Given the description of an element on the screen output the (x, y) to click on. 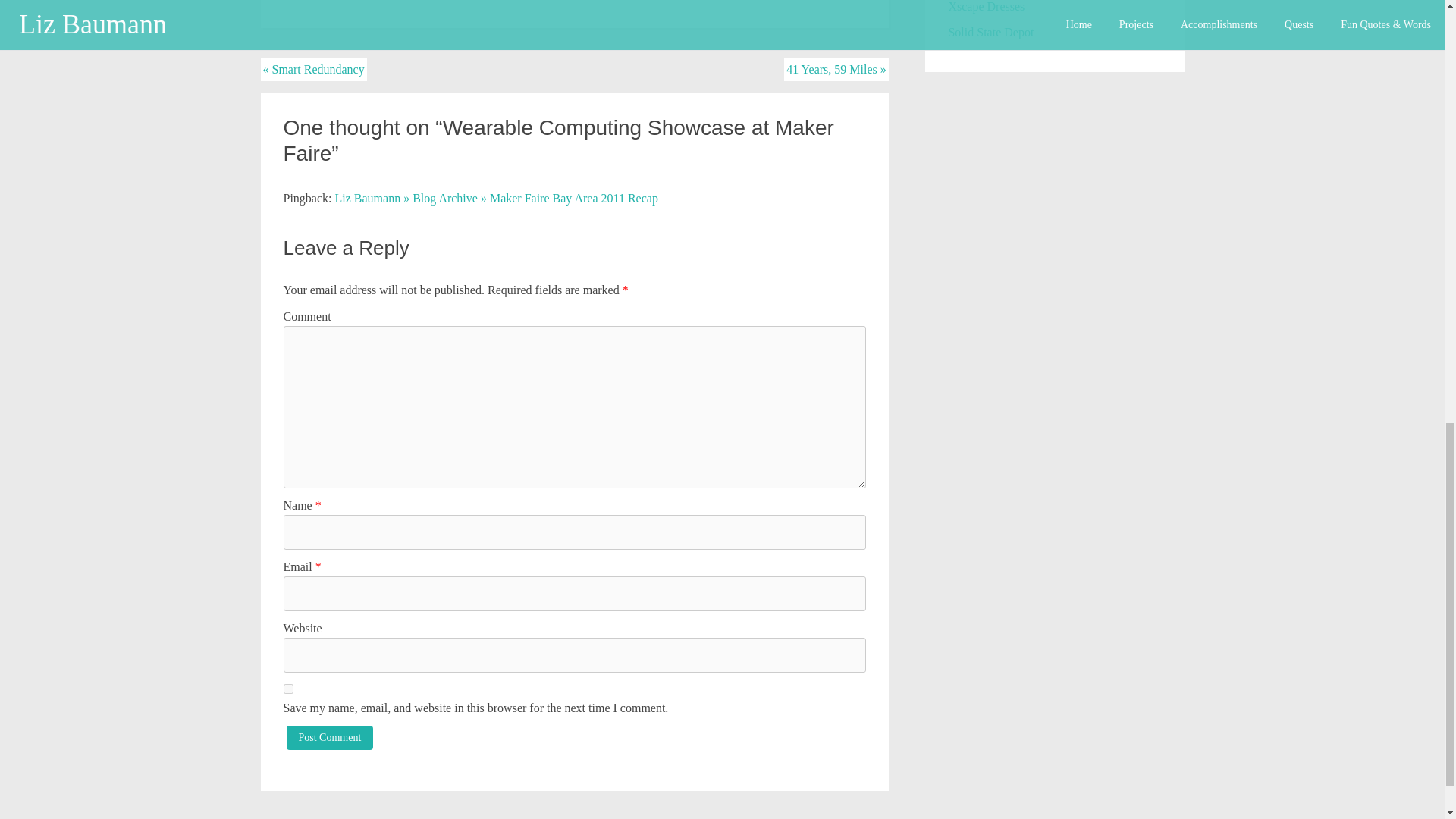
Post Comment (330, 737)
Post Comment (330, 737)
yes (288, 688)
